Given the description of an element on the screen output the (x, y) to click on. 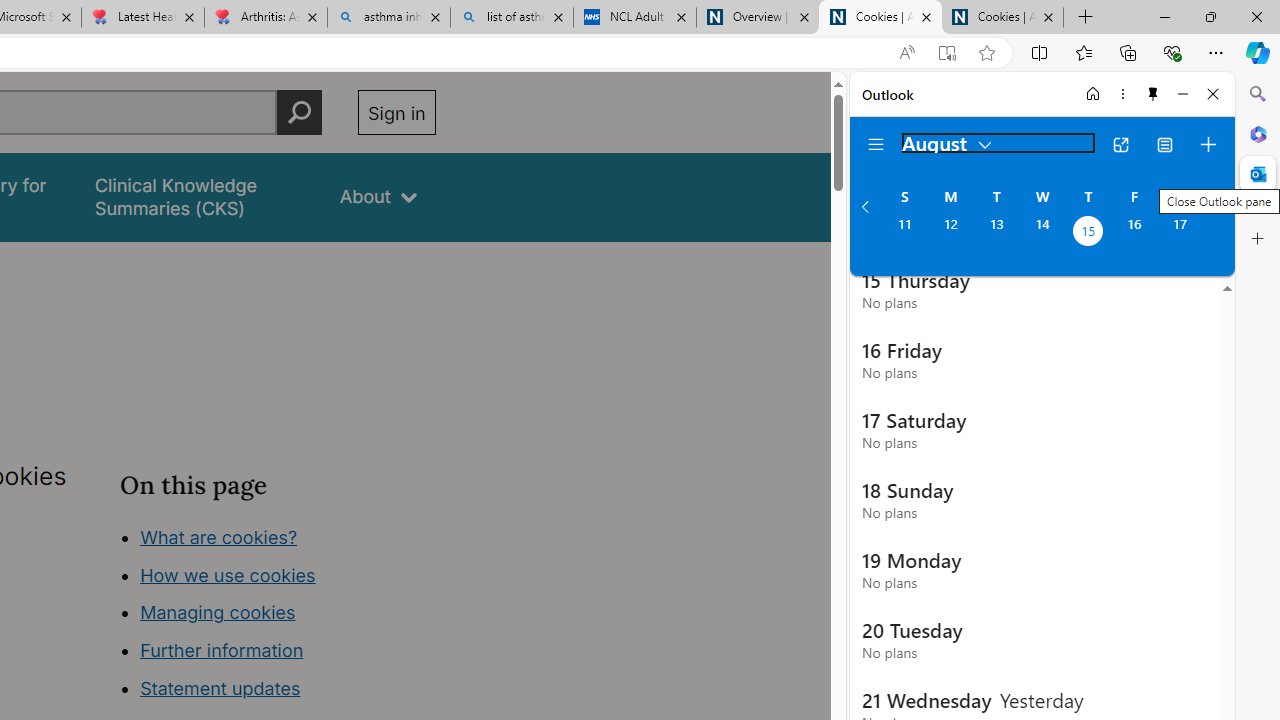
Cookies | About | NICE (1002, 17)
Sign in (396, 112)
Arthritis: Ask Health Professionals (265, 17)
Thursday, August 15, 2024. Date selected.  (1088, 233)
